Given the description of an element on the screen output the (x, y) to click on. 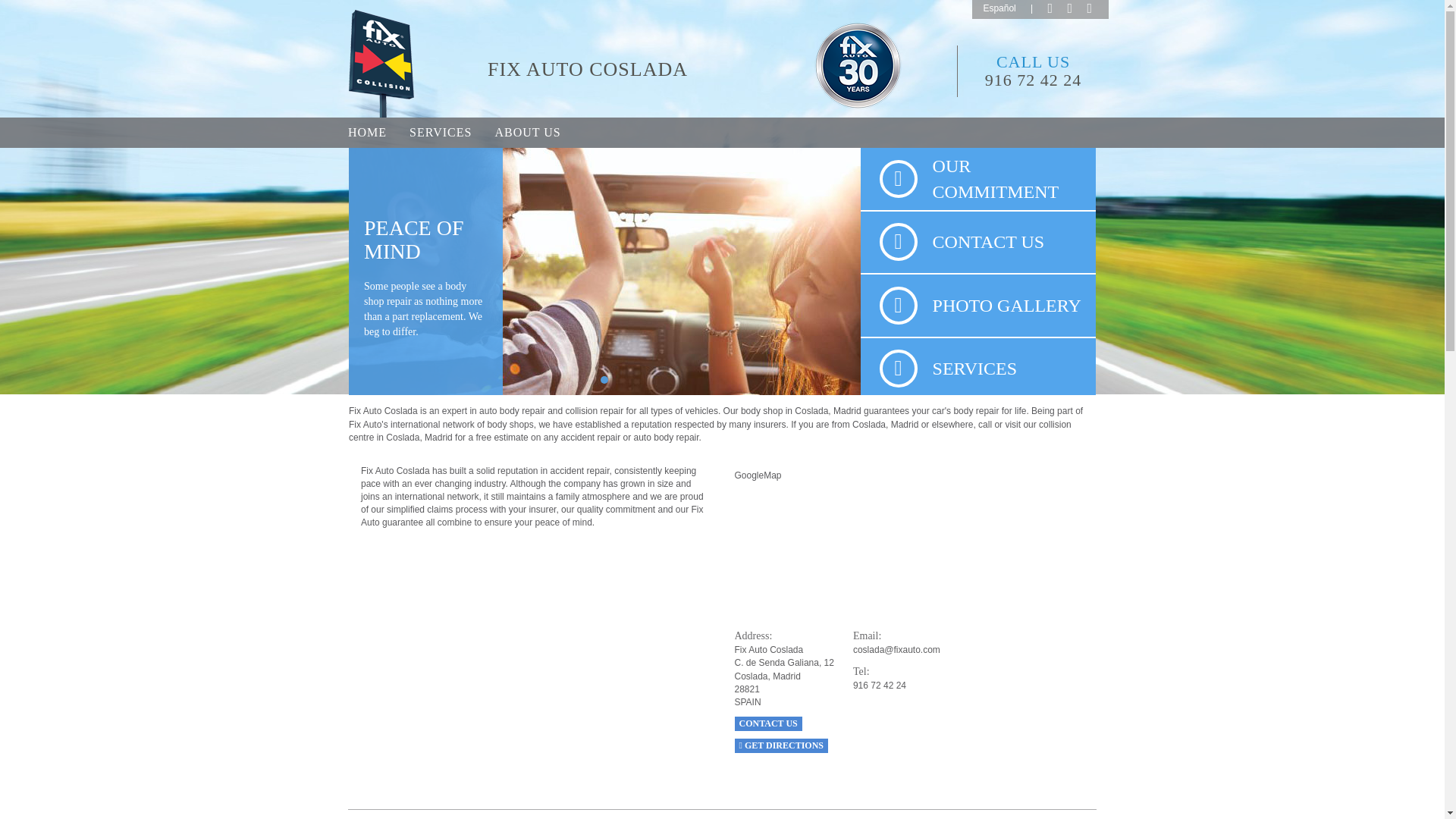
PHOTO GALLERY (978, 305)
ABOUT US (527, 132)
GET DIRECTIONS (780, 745)
GET DIRECTIONS (780, 745)
SERVICES (978, 369)
CONTACT US (767, 723)
HOME (367, 132)
1 (603, 379)
CONTACT US (978, 241)
SERVICES (440, 132)
OUR COMMITMENT (978, 178)
CONTACT US (767, 723)
